Given the description of an element on the screen output the (x, y) to click on. 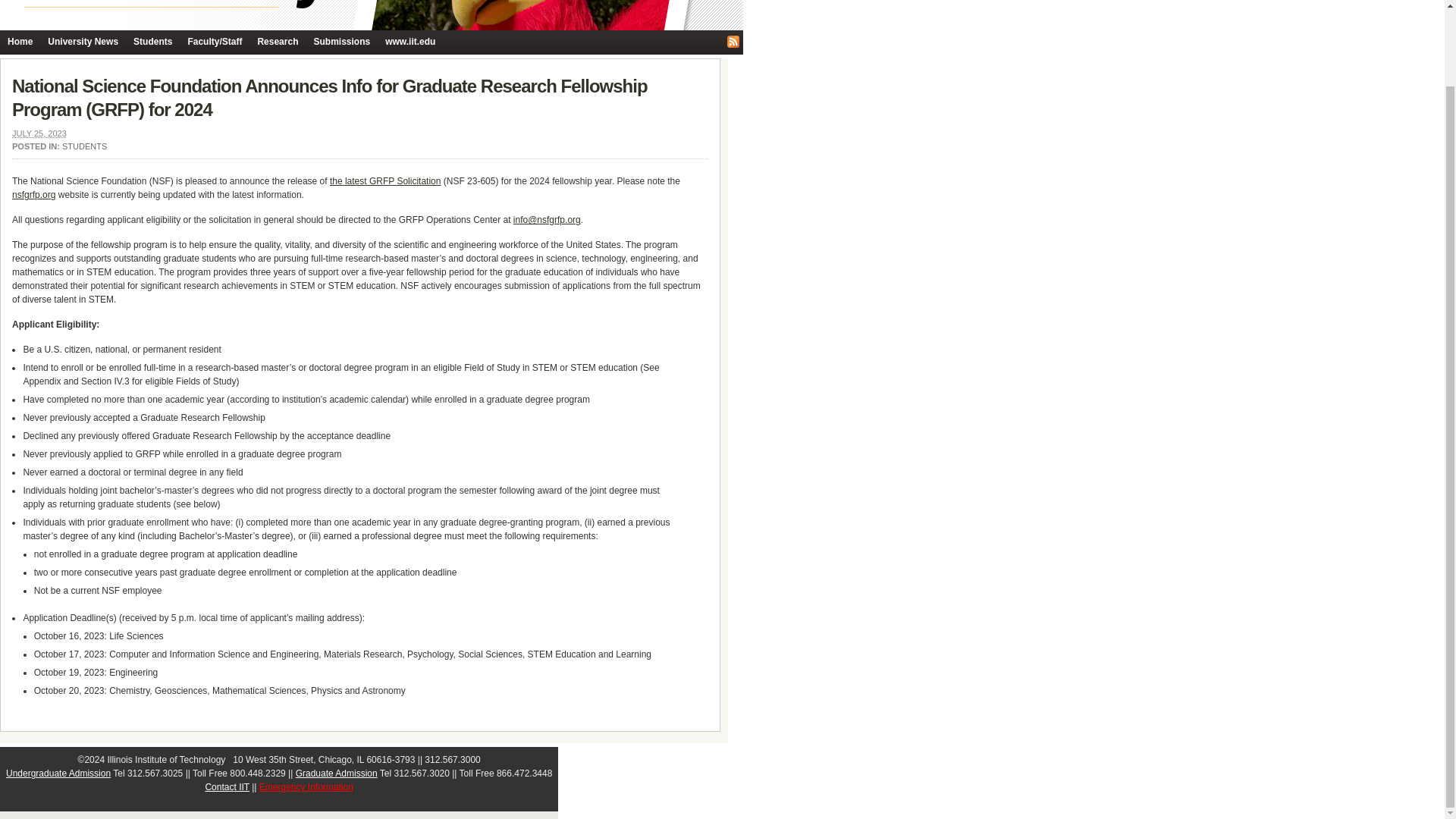
Contact IIT (226, 787)
STUDENTS (84, 145)
the latest GRFP Solicitation (385, 181)
Undergraduate Admission (57, 773)
Submissions (341, 42)
Graduate Admission (336, 773)
Illinois Tech Today RSS Feed (732, 41)
Contact IIT (226, 787)
RSS Feed (732, 41)
nsfgrfp.org (33, 194)
Students (152, 42)
2023-07-25T15:38:47-05:00 (38, 133)
Home (20, 42)
Emergency Information (306, 787)
www.iit.edu (409, 42)
